Given the description of an element on the screen output the (x, y) to click on. 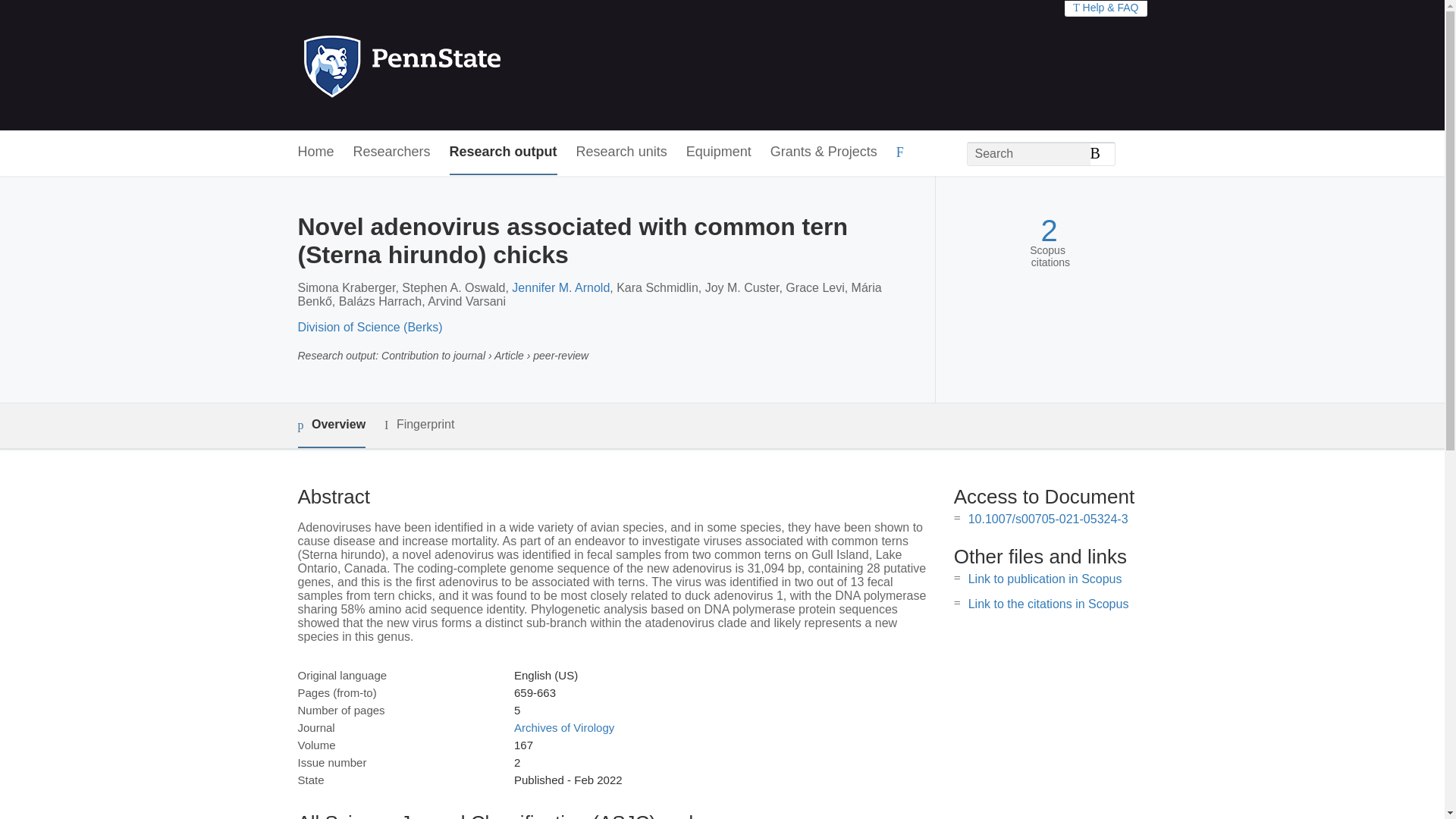
Fingerprint (419, 424)
Equipment (718, 152)
Link to publication in Scopus (1045, 578)
Research output (503, 152)
Archives of Virology (563, 727)
Overview (331, 425)
Research units (621, 152)
Researchers (391, 152)
Link to the citations in Scopus (1048, 603)
